Given the description of an element on the screen output the (x, y) to click on. 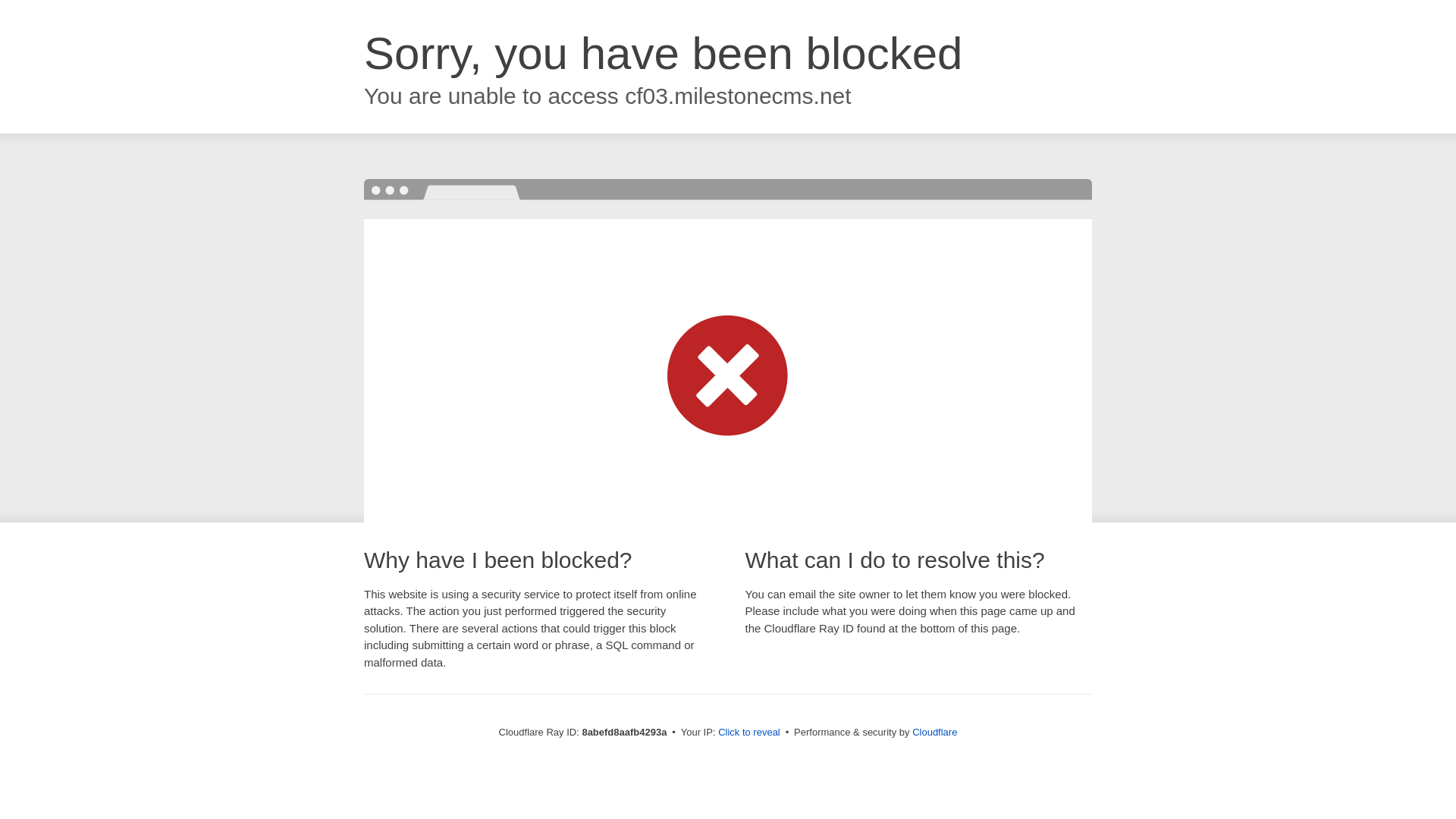
Click to reveal (748, 732)
Cloudflare (934, 731)
